Given the description of an element on the screen output the (x, y) to click on. 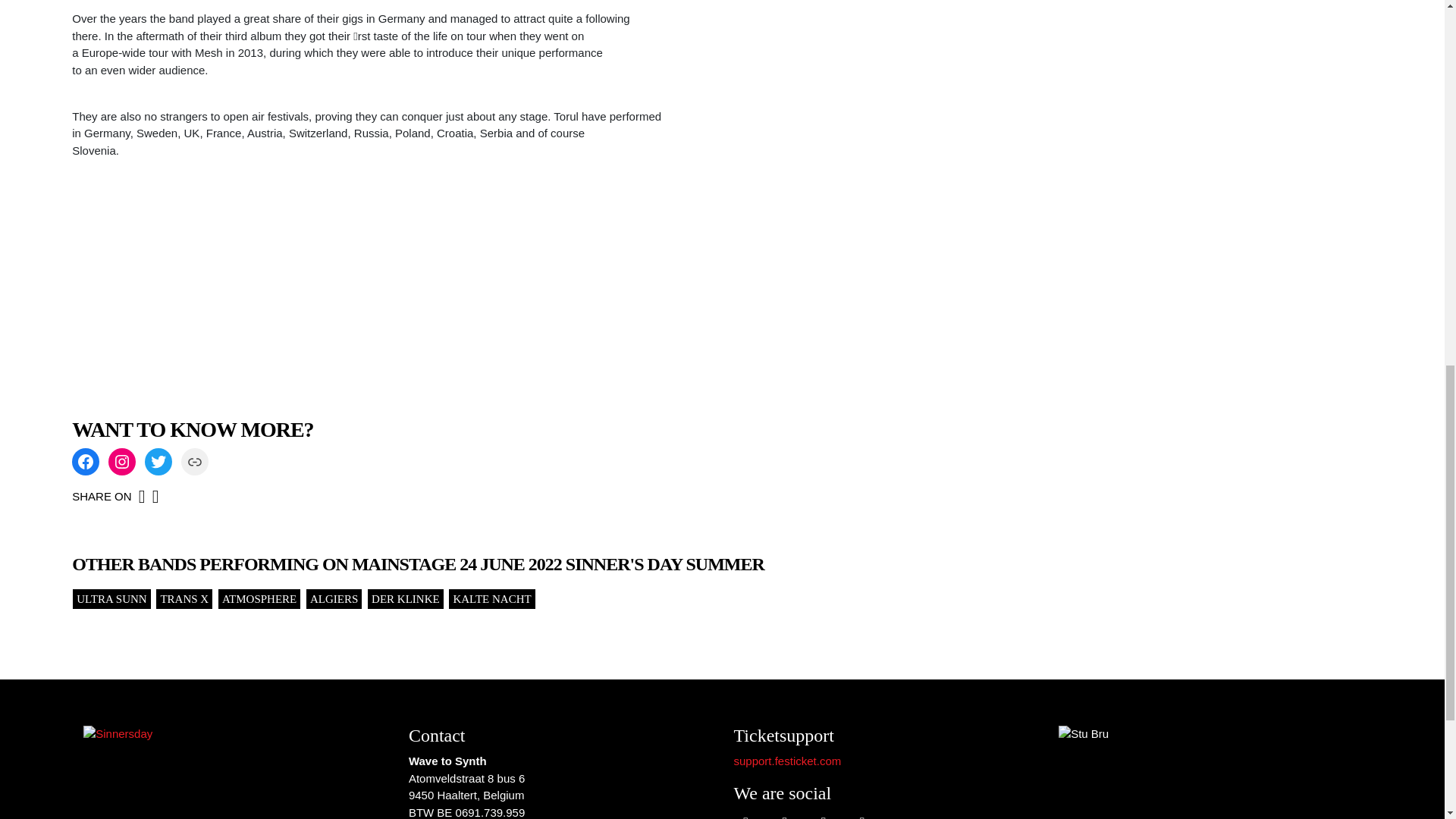
TRANS X (183, 599)
Link (194, 461)
Facebook (85, 461)
support.festicket.com (787, 760)
Instagram (121, 461)
DER KLINKE (405, 599)
ALGIERS (333, 599)
KALTE NACHT (491, 599)
ULTRA SUNN (111, 599)
ATMOSPHERE (258, 599)
Twitter (157, 461)
